Given the description of an element on the screen output the (x, y) to click on. 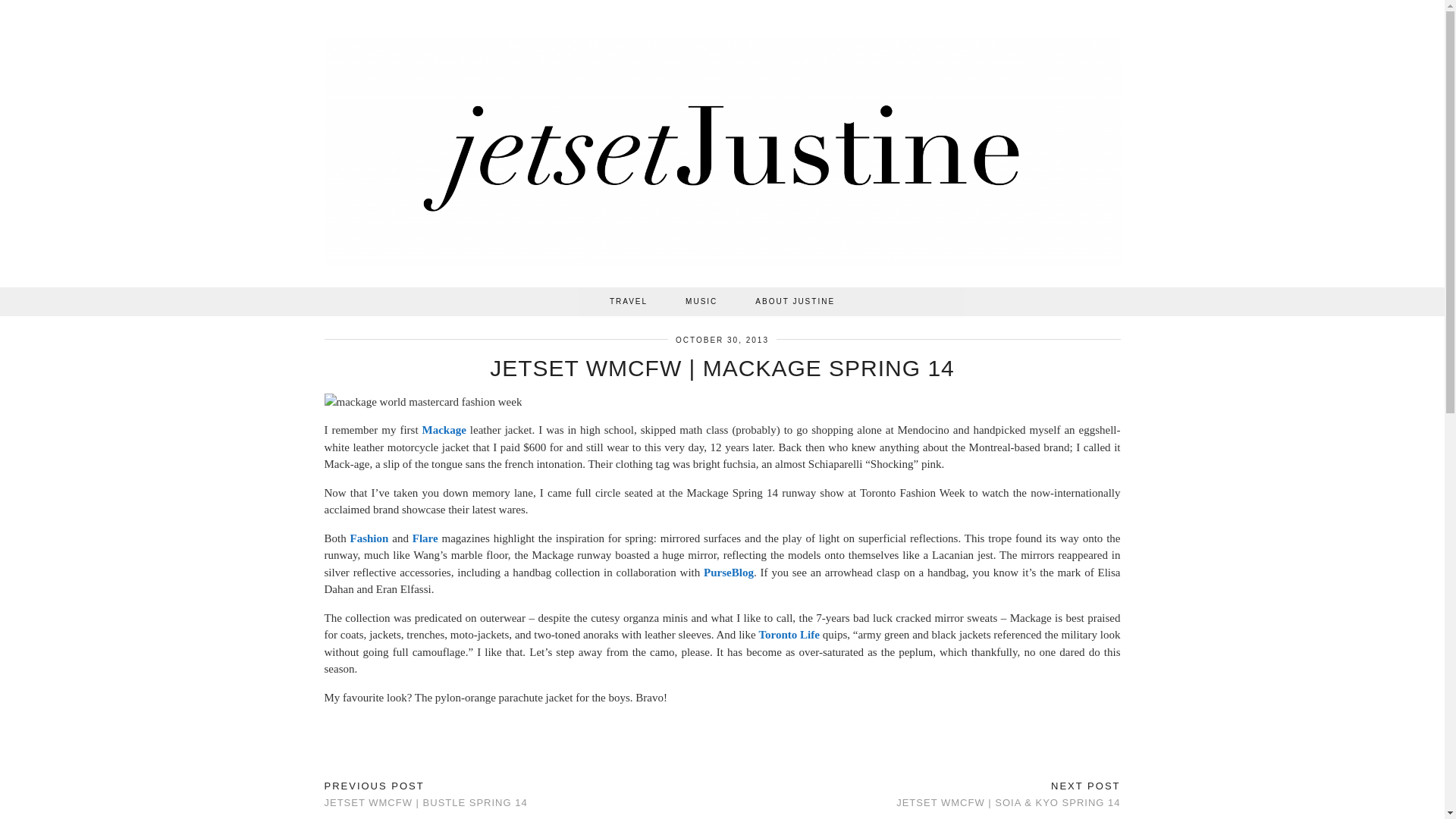
TRAVEL (628, 301)
